Given the description of an element on the screen output the (x, y) to click on. 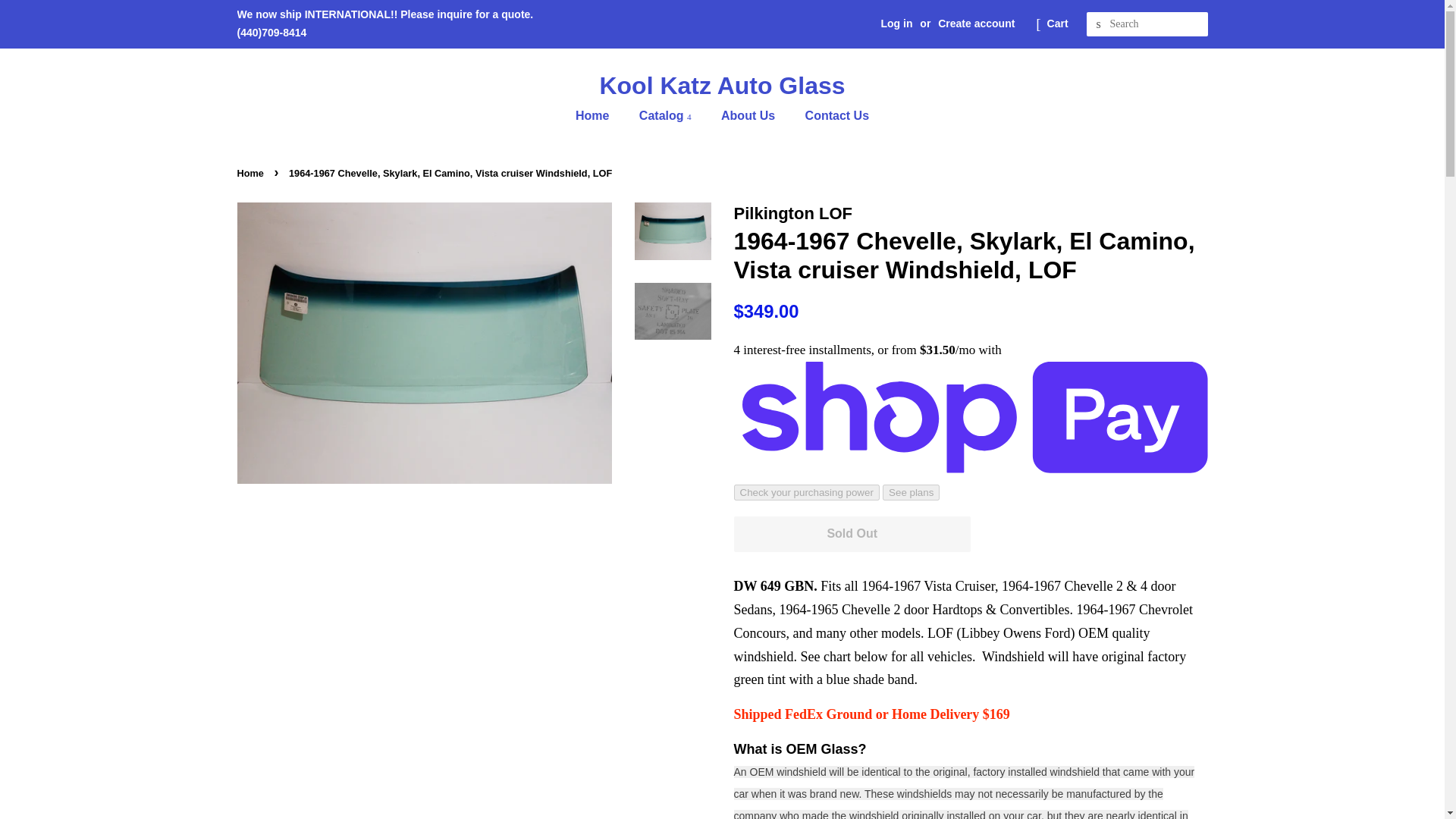
Home (250, 173)
Catalog (666, 115)
Cart (1057, 24)
About Us (750, 115)
Contact Us (831, 115)
Kool Katz Auto Glass (721, 85)
Sold Out (852, 534)
Back to the frontpage (250, 173)
Create account (975, 23)
Log in (896, 23)
Search (1097, 24)
Home (599, 115)
